Given the description of an element on the screen output the (x, y) to click on. 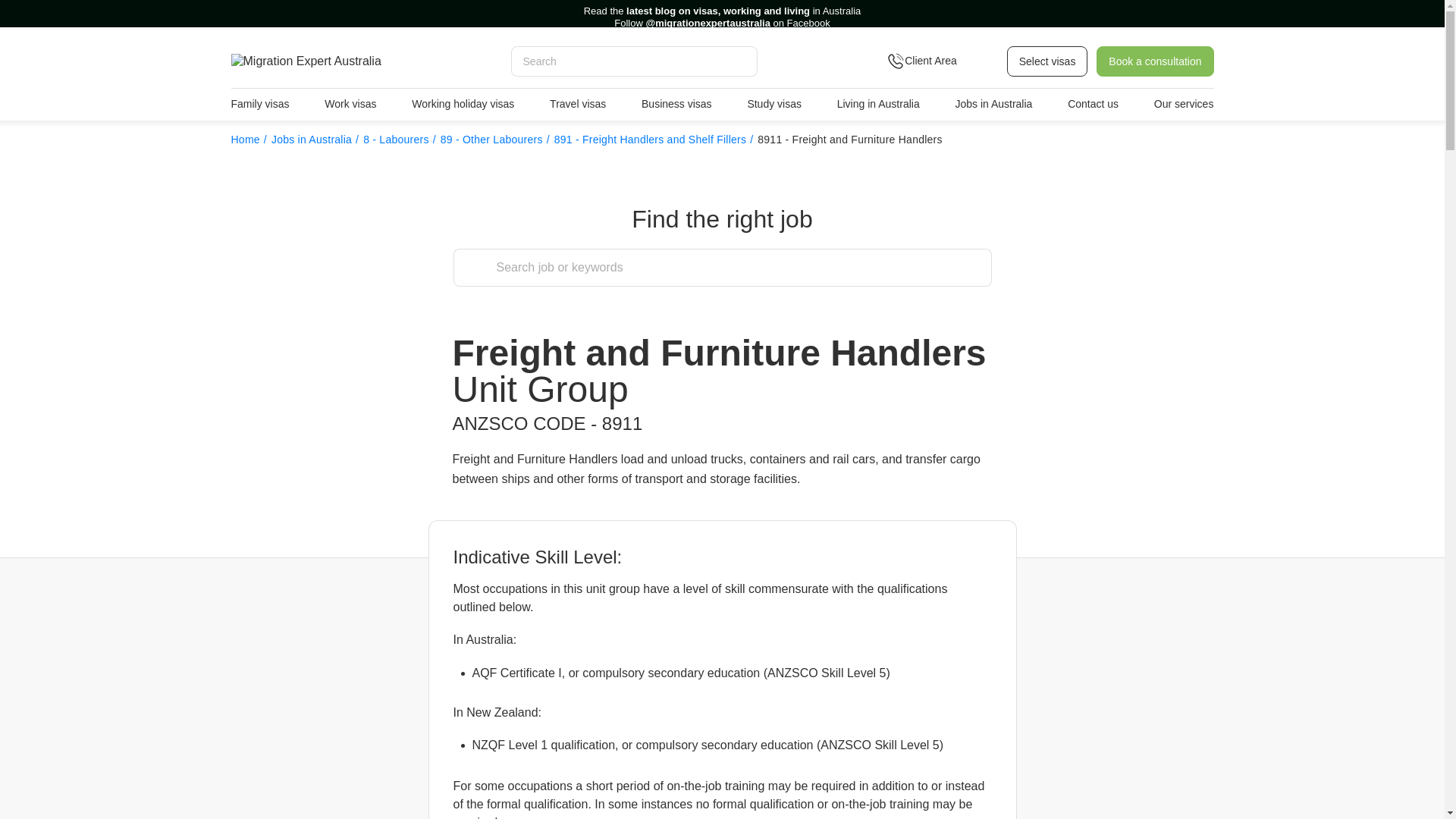
Select visas (1047, 60)
Client Area (940, 60)
Family visas (259, 104)
Book a consultation (1154, 60)
